Given the description of an element on the screen output the (x, y) to click on. 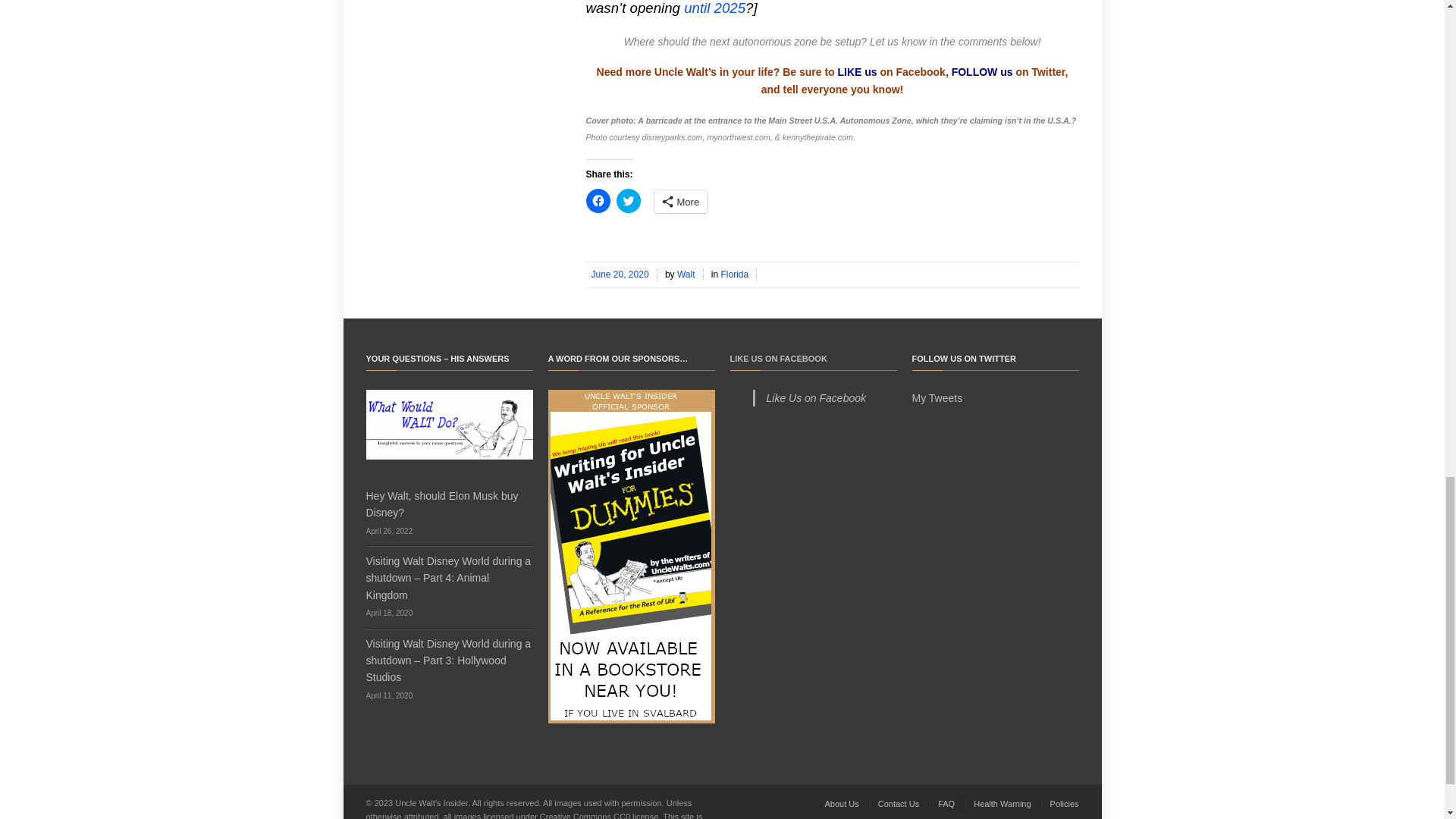
LIKE US ON FACEBOOK (778, 358)
My Tweets (936, 398)
Like Us on Facebook (815, 398)
Hey Walt, should Elon Musk buy Disney? (441, 503)
June 20, 2020 (620, 274)
FOLLOW us (982, 71)
Click to share on Twitter (627, 200)
Click to share on Facebook (597, 200)
More (680, 201)
until 2025 (714, 7)
Florida (735, 274)
LIKE us (857, 71)
Walt (687, 274)
